Given the description of an element on the screen output the (x, y) to click on. 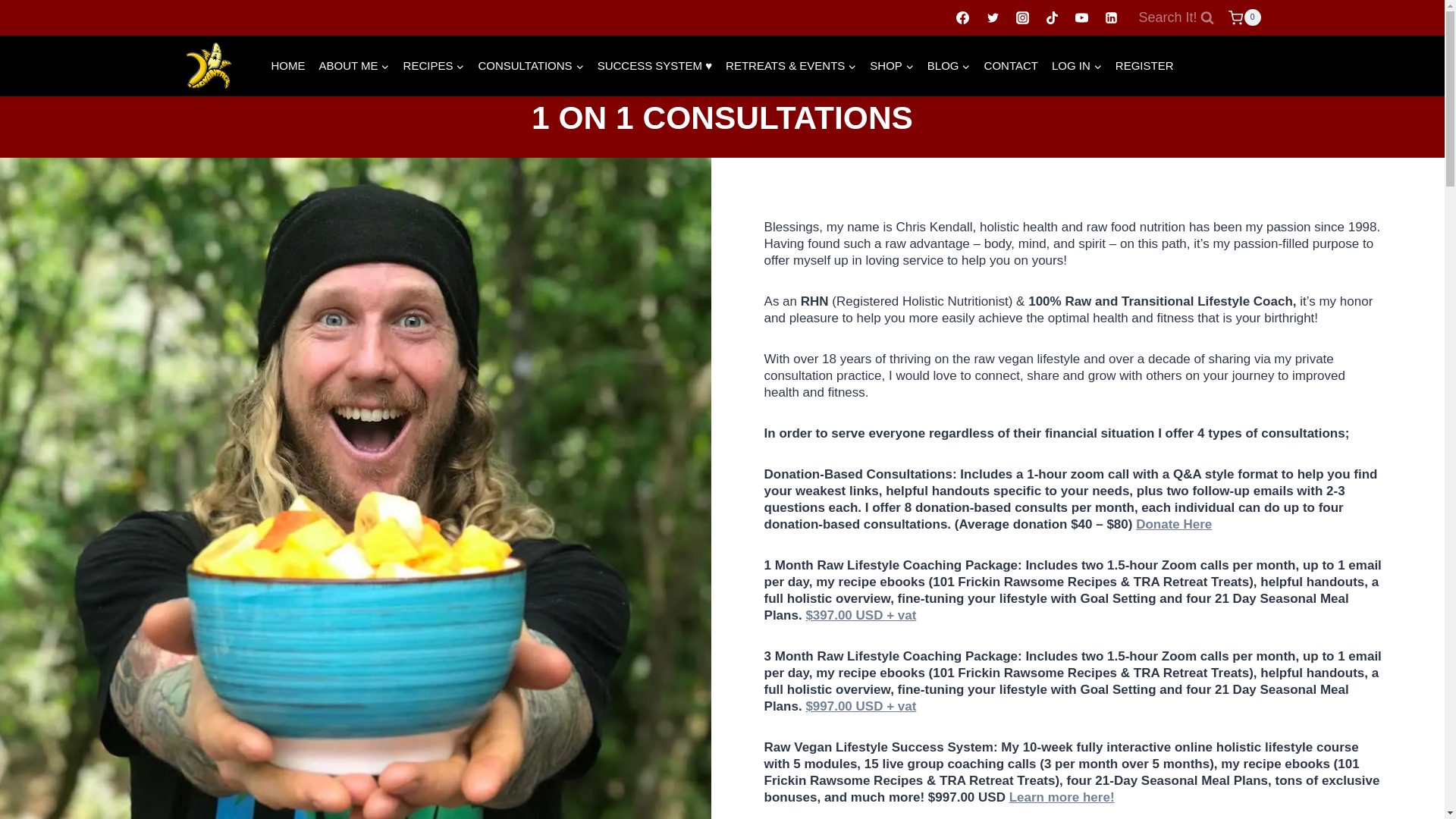
ABOUT ME (354, 65)
CONSULTATIONS (529, 65)
HOME (288, 65)
Search It! (1176, 18)
0 (1244, 17)
RECIPES (433, 65)
